Given the description of an element on the screen output the (x, y) to click on. 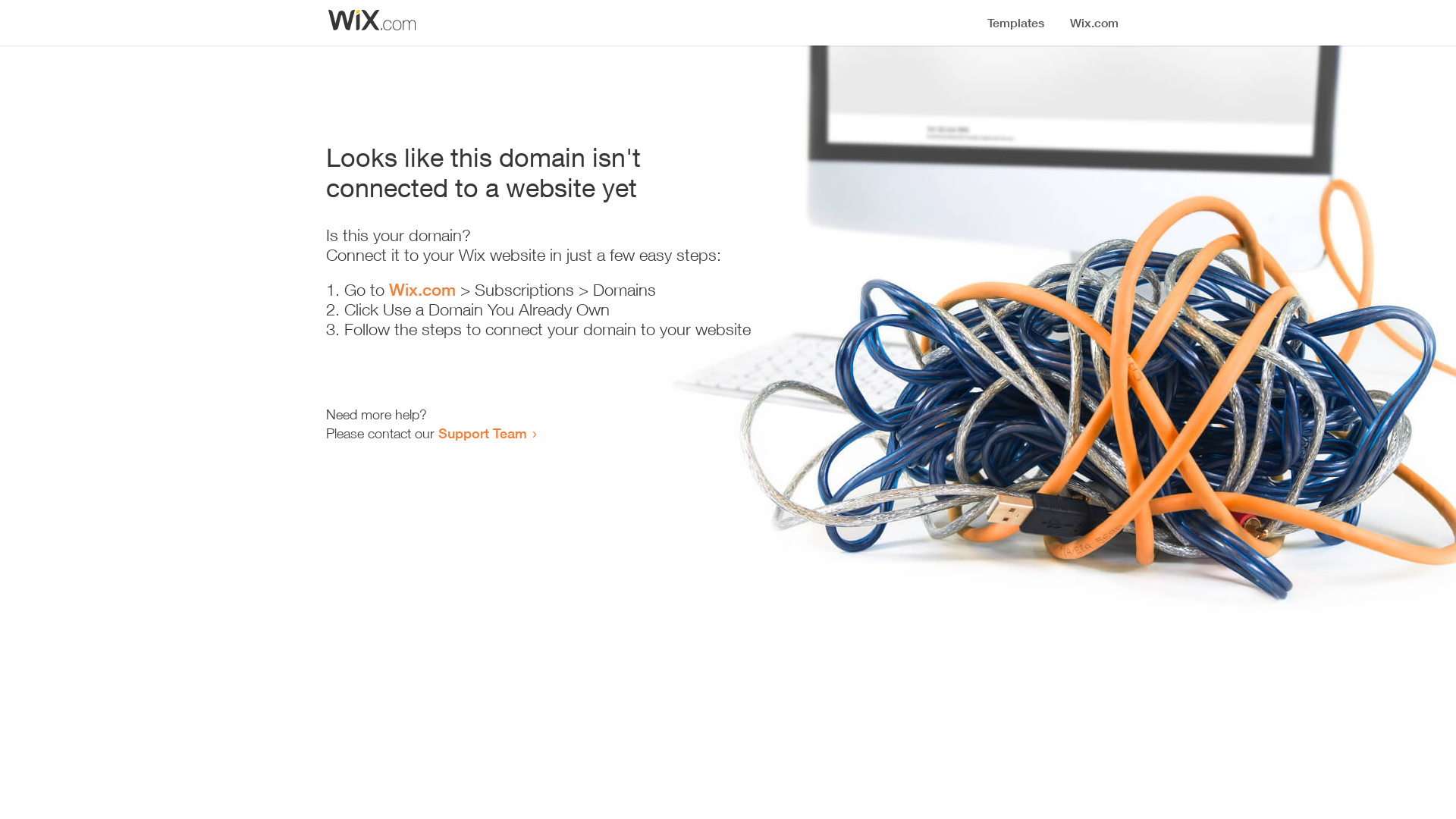
Support Team Element type: text (482, 432)
Wix.com Element type: text (422, 289)
